Given the description of an element on the screen output the (x, y) to click on. 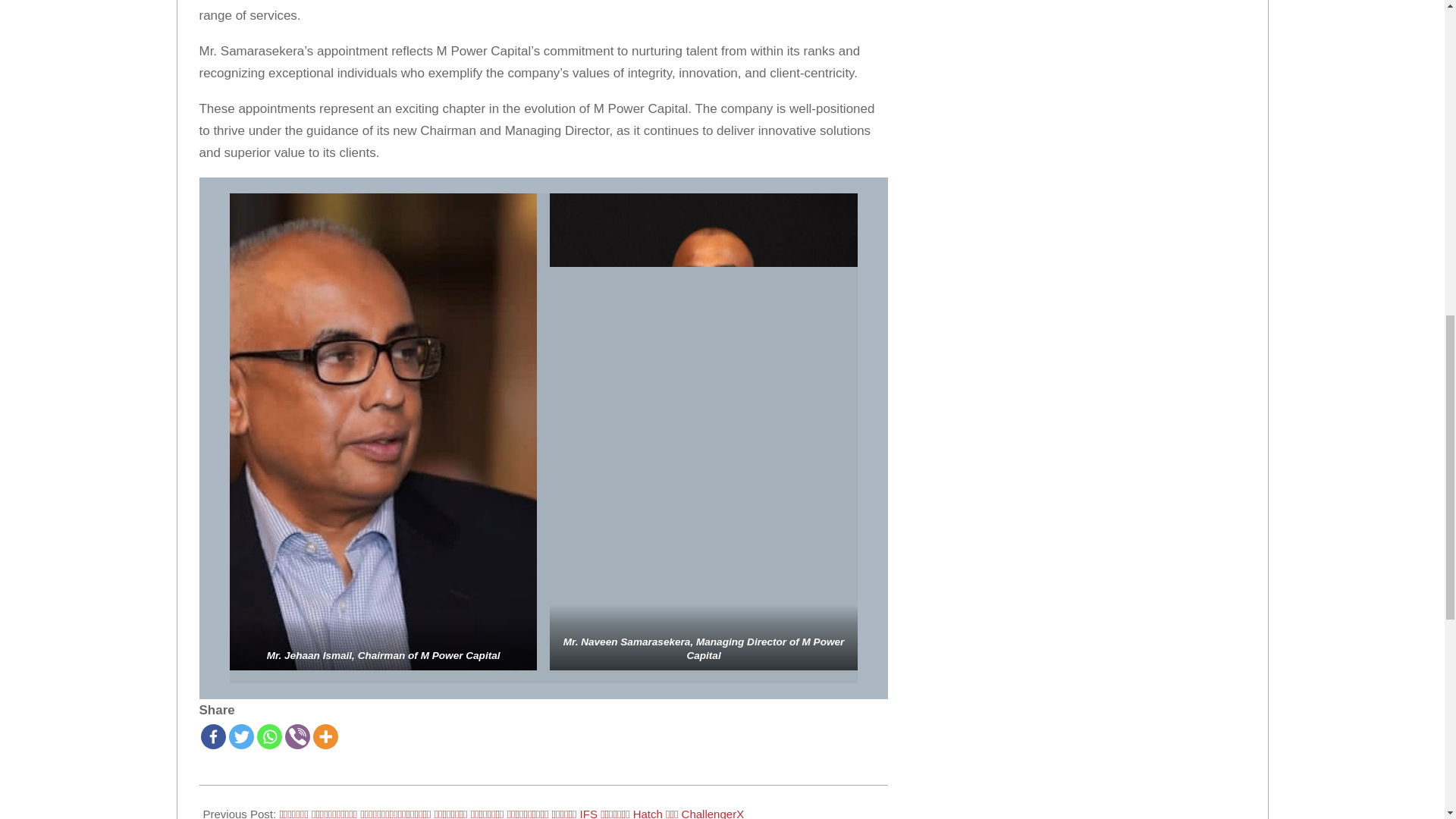
Whatsapp (268, 736)
Viber (297, 736)
More (325, 736)
Twitter (240, 736)
Facebook (212, 736)
